Given the description of an element on the screen output the (x, y) to click on. 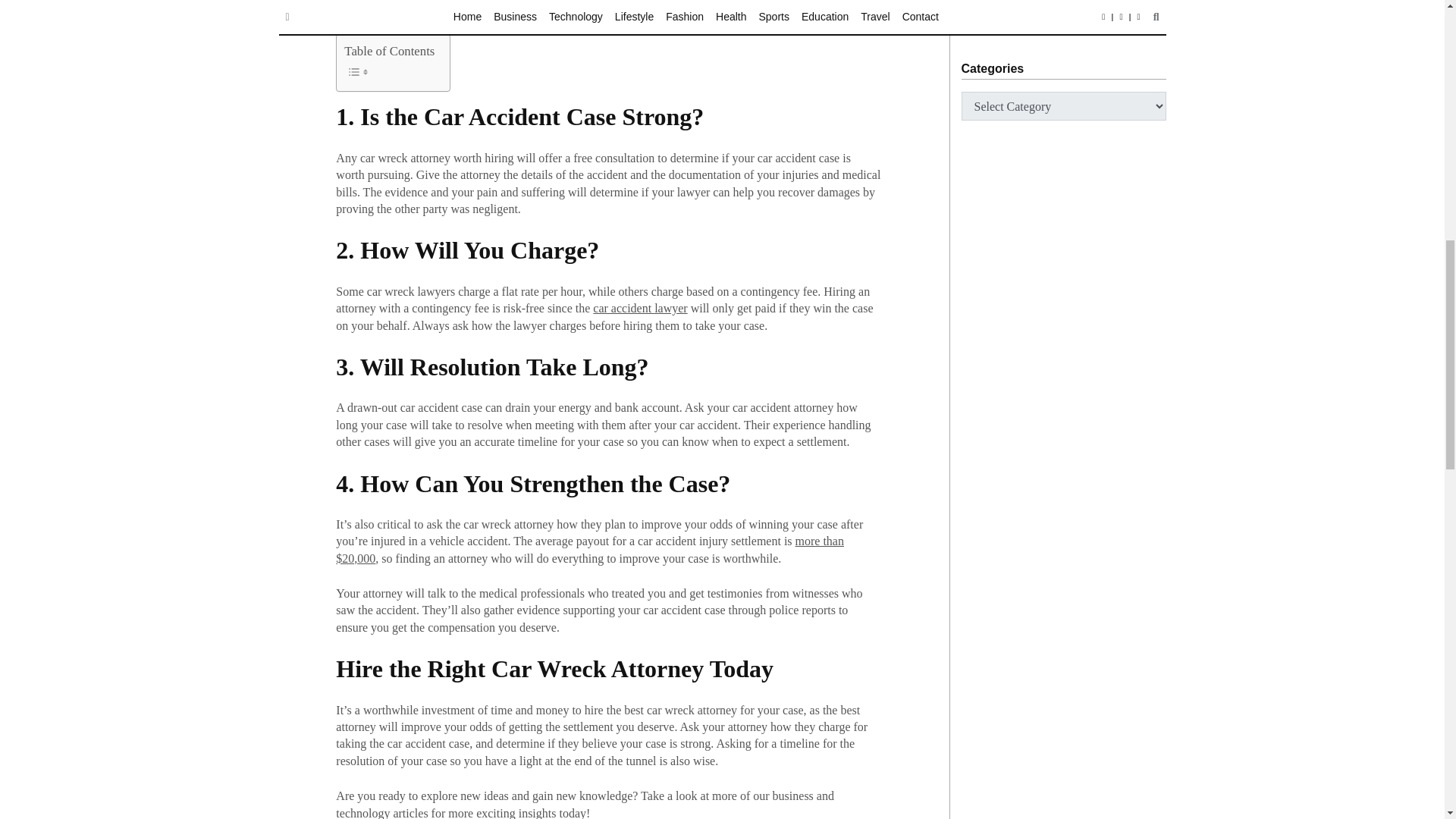
car accident lawyer (639, 308)
